Given the description of an element on the screen output the (x, y) to click on. 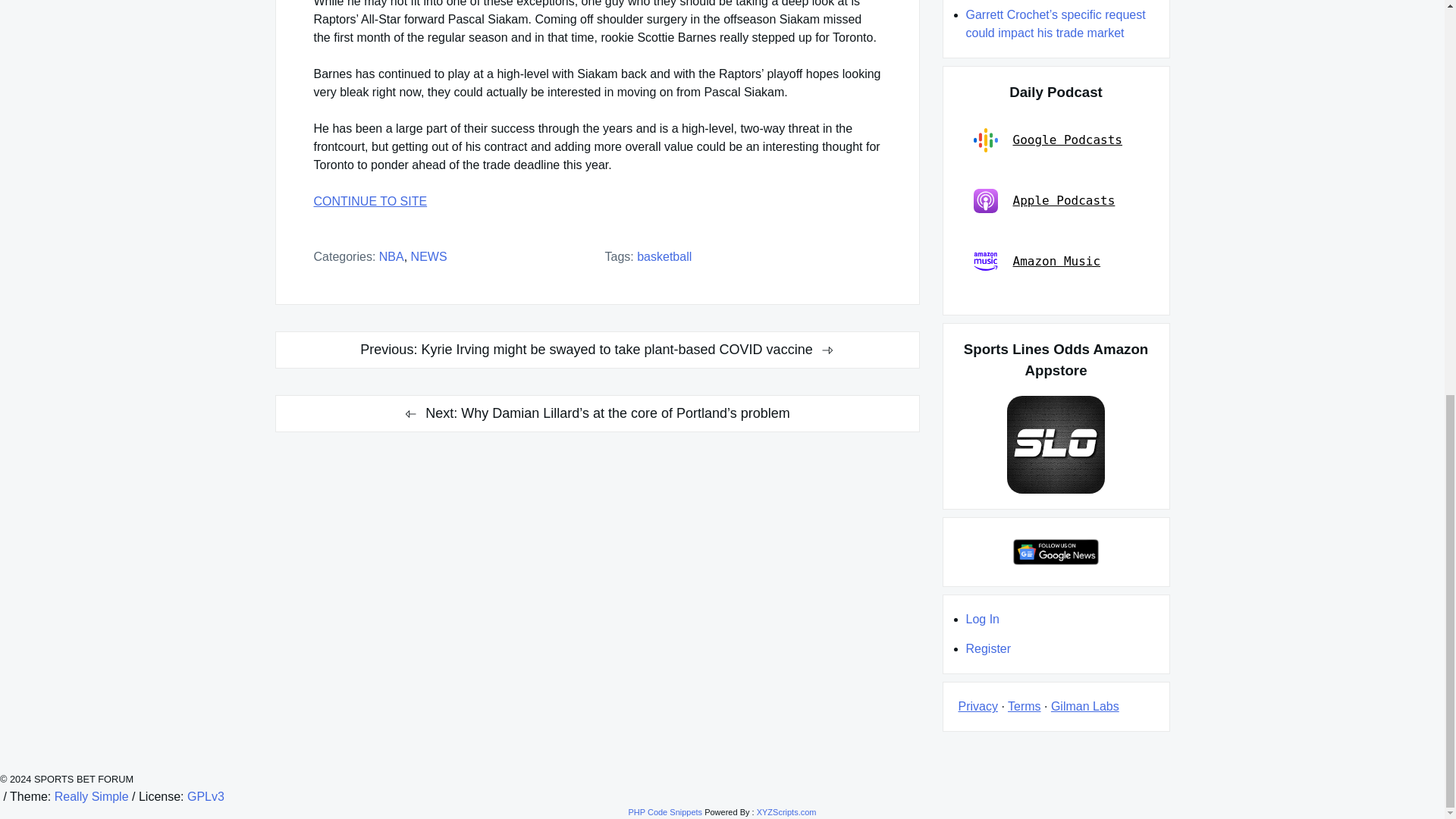
NBA (391, 256)
Insert PHP Snippet Wordpress Plugin (664, 811)
basketball (664, 256)
CONTINUE TO SITE (597, 201)
NEWS (428, 256)
